Given the description of an element on the screen output the (x, y) to click on. 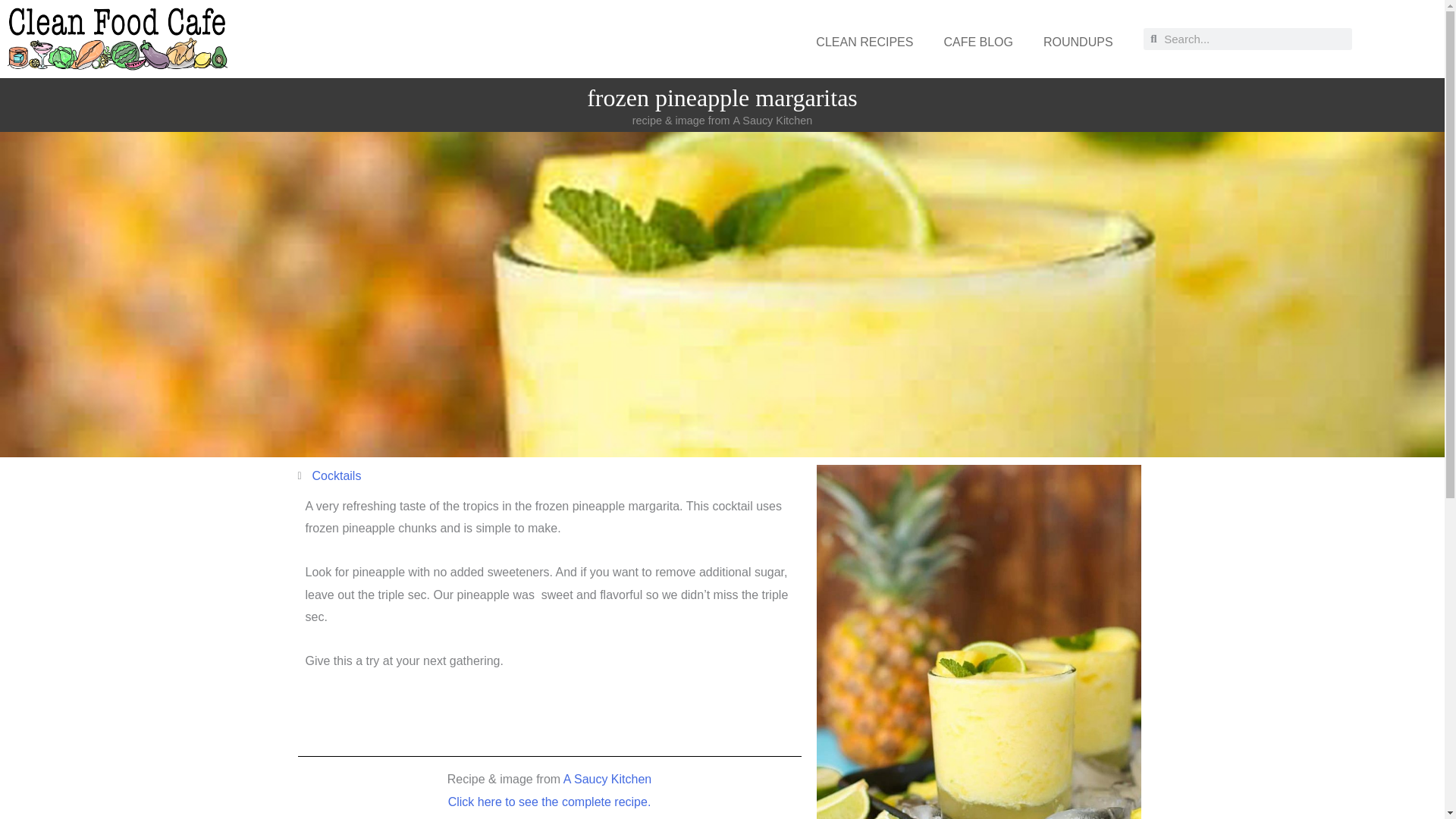
Cocktails (337, 475)
CLEAN RECIPES (864, 42)
A Saucy Kitchen (607, 779)
ROUNDUPS (1077, 42)
Click here to see the complete recipe. (549, 802)
CAFE BLOG (977, 42)
